Given the description of an element on the screen output the (x, y) to click on. 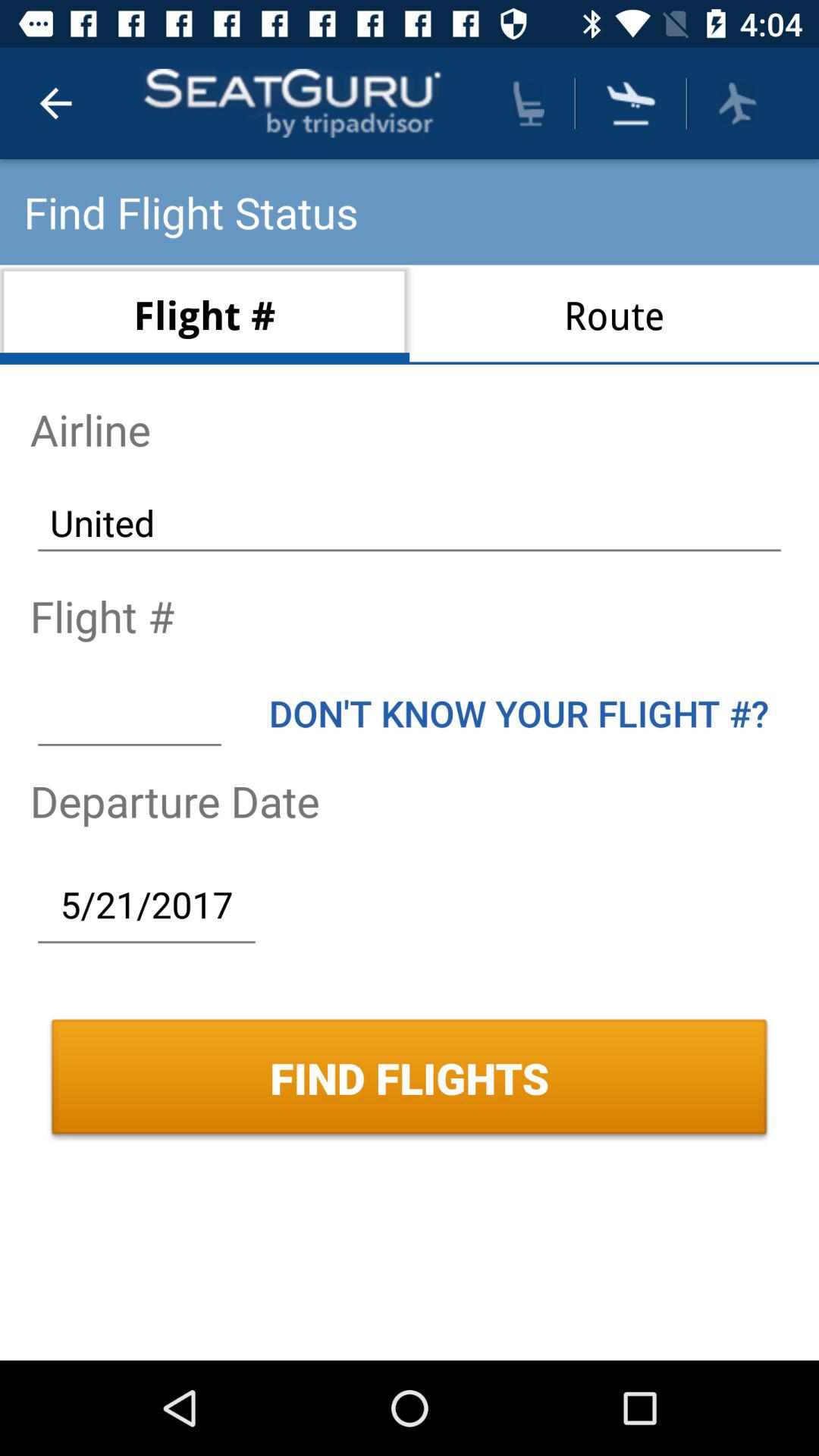
select seats (528, 103)
